Given the description of an element on the screen output the (x, y) to click on. 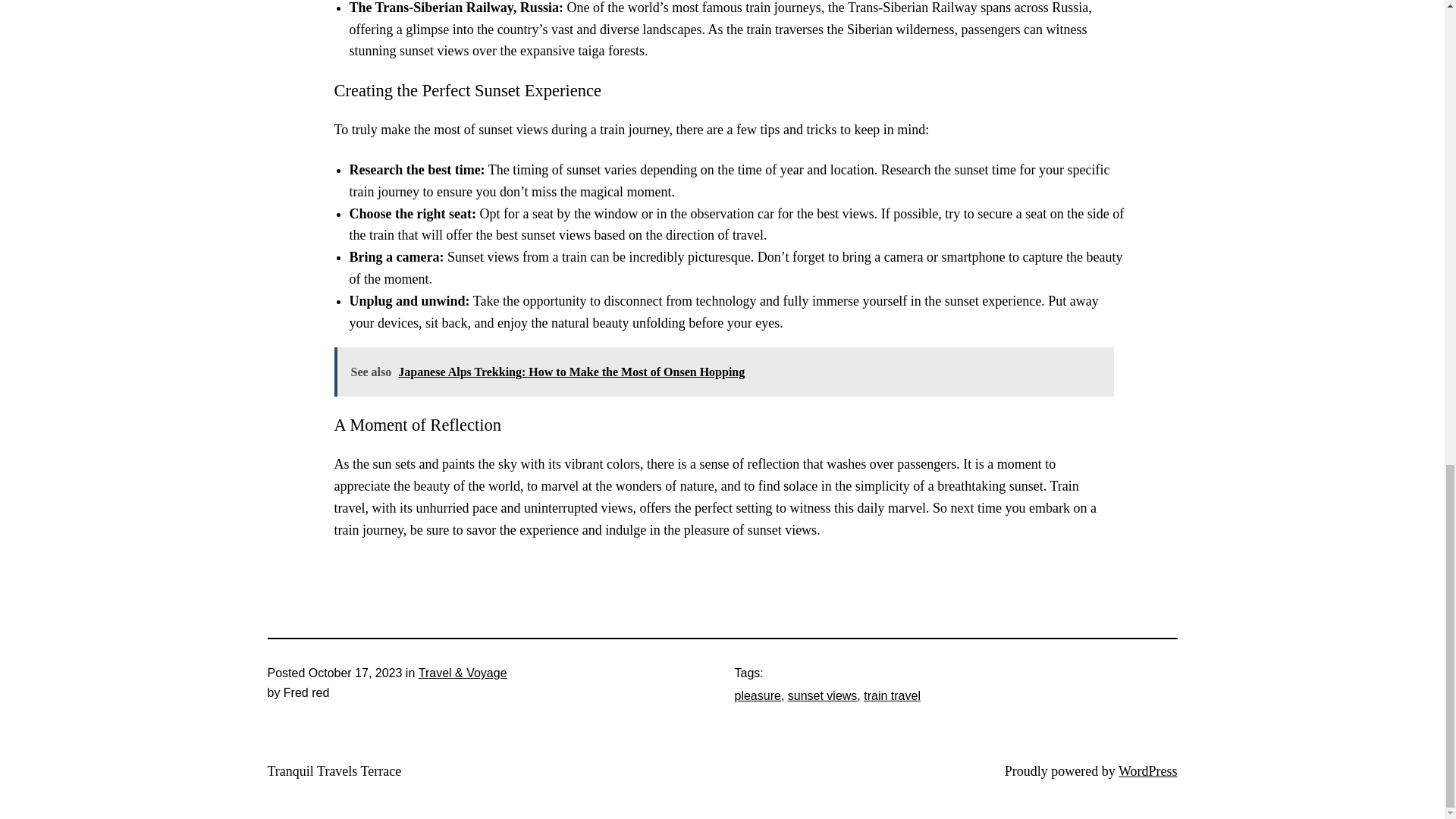
Tranquil Travels Terrace (333, 770)
pleasure (756, 695)
train travel (891, 695)
WordPress (1147, 770)
sunset views (822, 695)
